Given the description of an element on the screen output the (x, y) to click on. 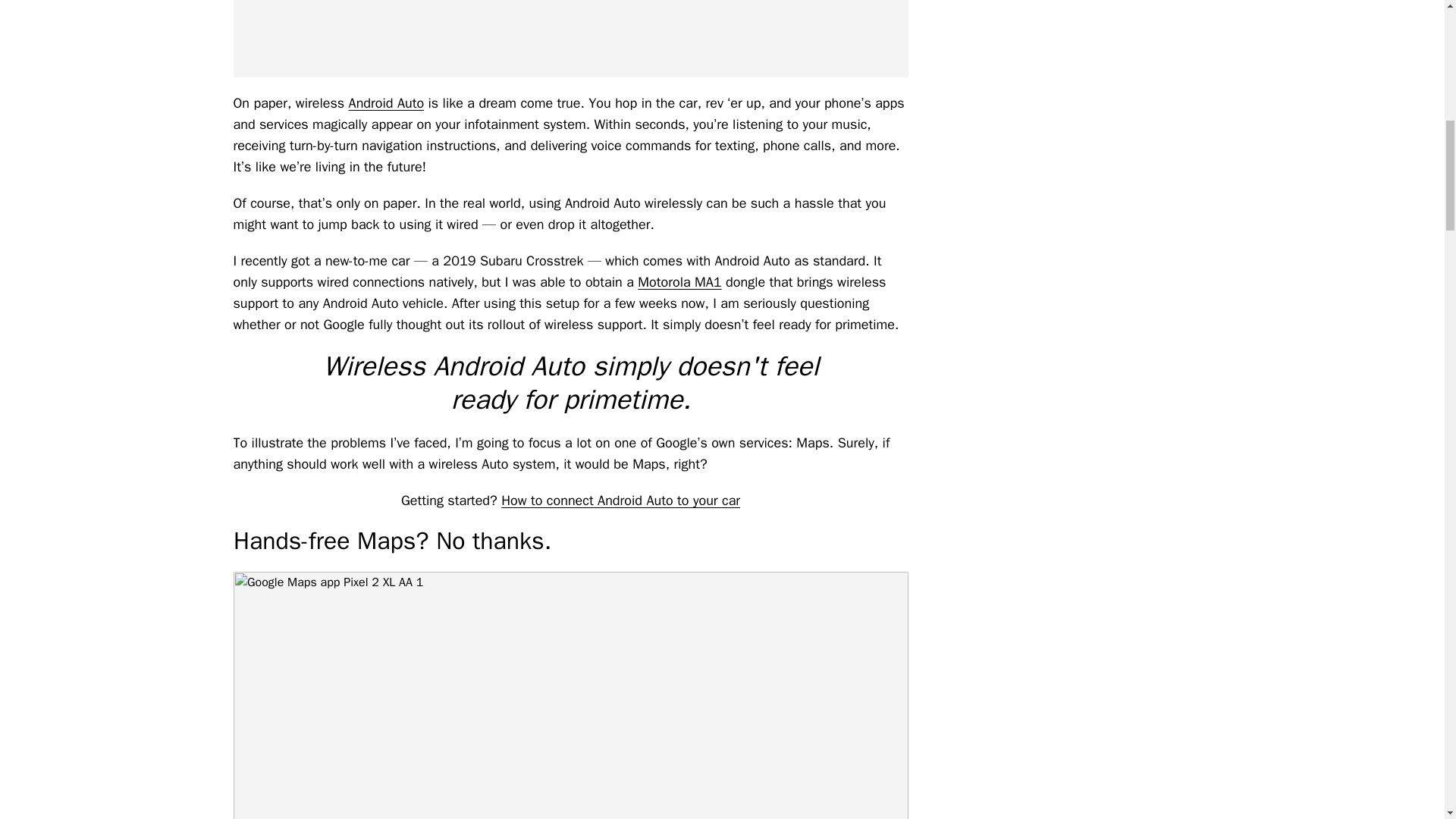
Motorola MA1 (678, 281)
How to connect Android Auto to your car (619, 500)
Android Auto in Volkswagen ID.4 Google Maps Navigation (570, 38)
Android Auto (387, 103)
